Given the description of an element on the screen output the (x, y) to click on. 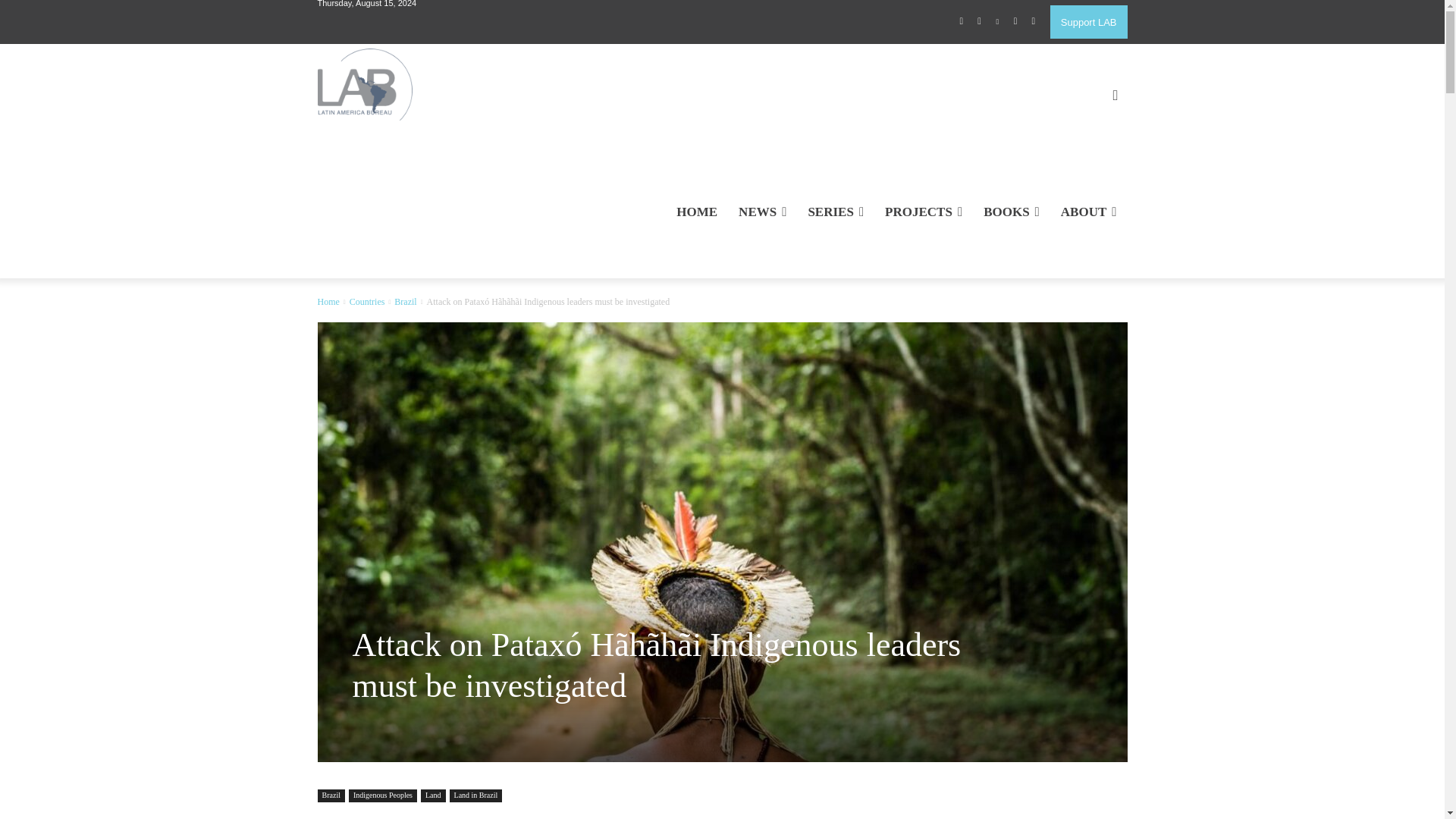
Twitter (1015, 22)
Youtube (1033, 22)
Linkedin (997, 22)
Facebook (961, 22)
Instagram (979, 22)
